Given the description of an element on the screen output the (x, y) to click on. 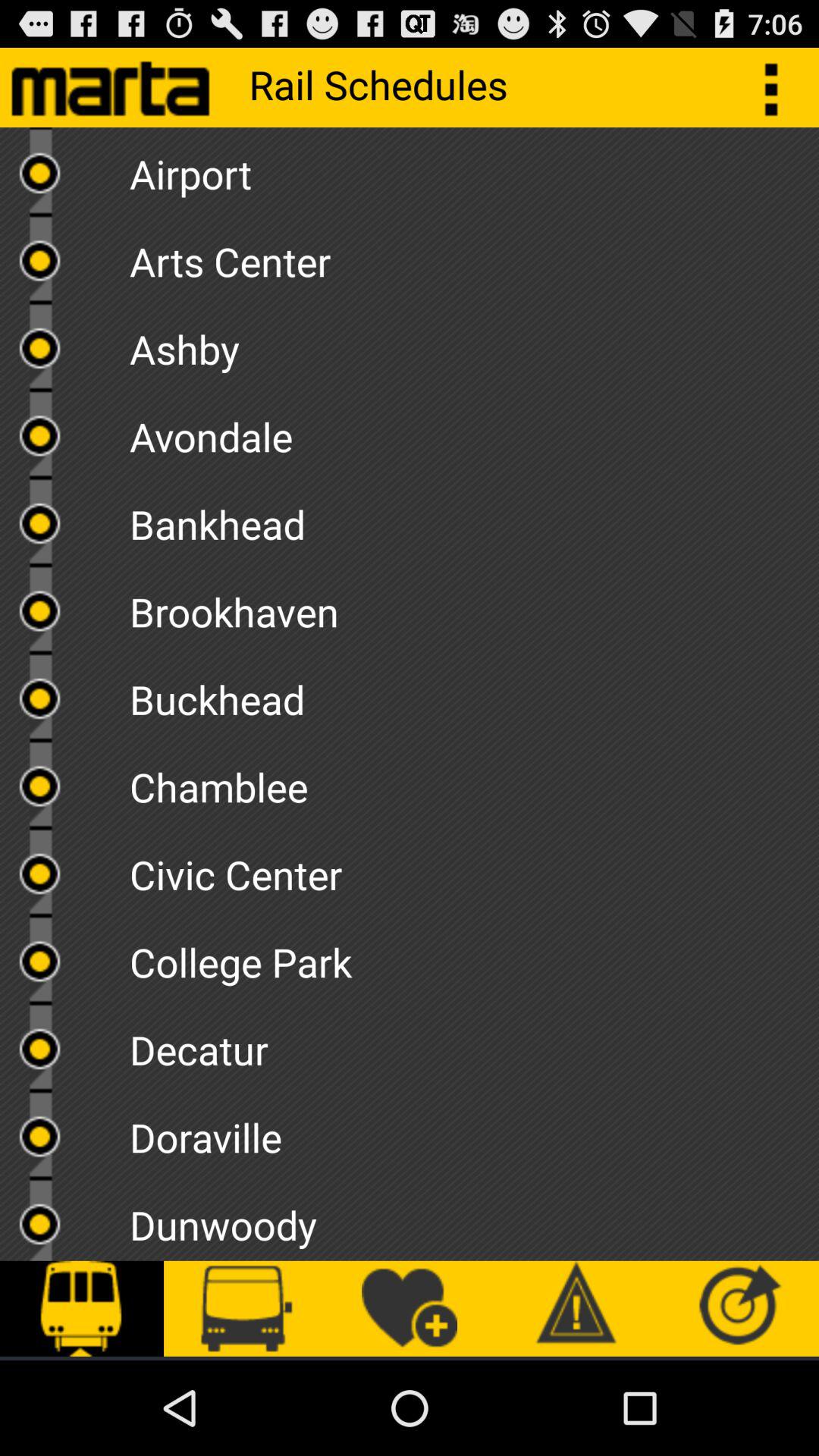
choose airport (474, 168)
